Given the description of an element on the screen output the (x, y) to click on. 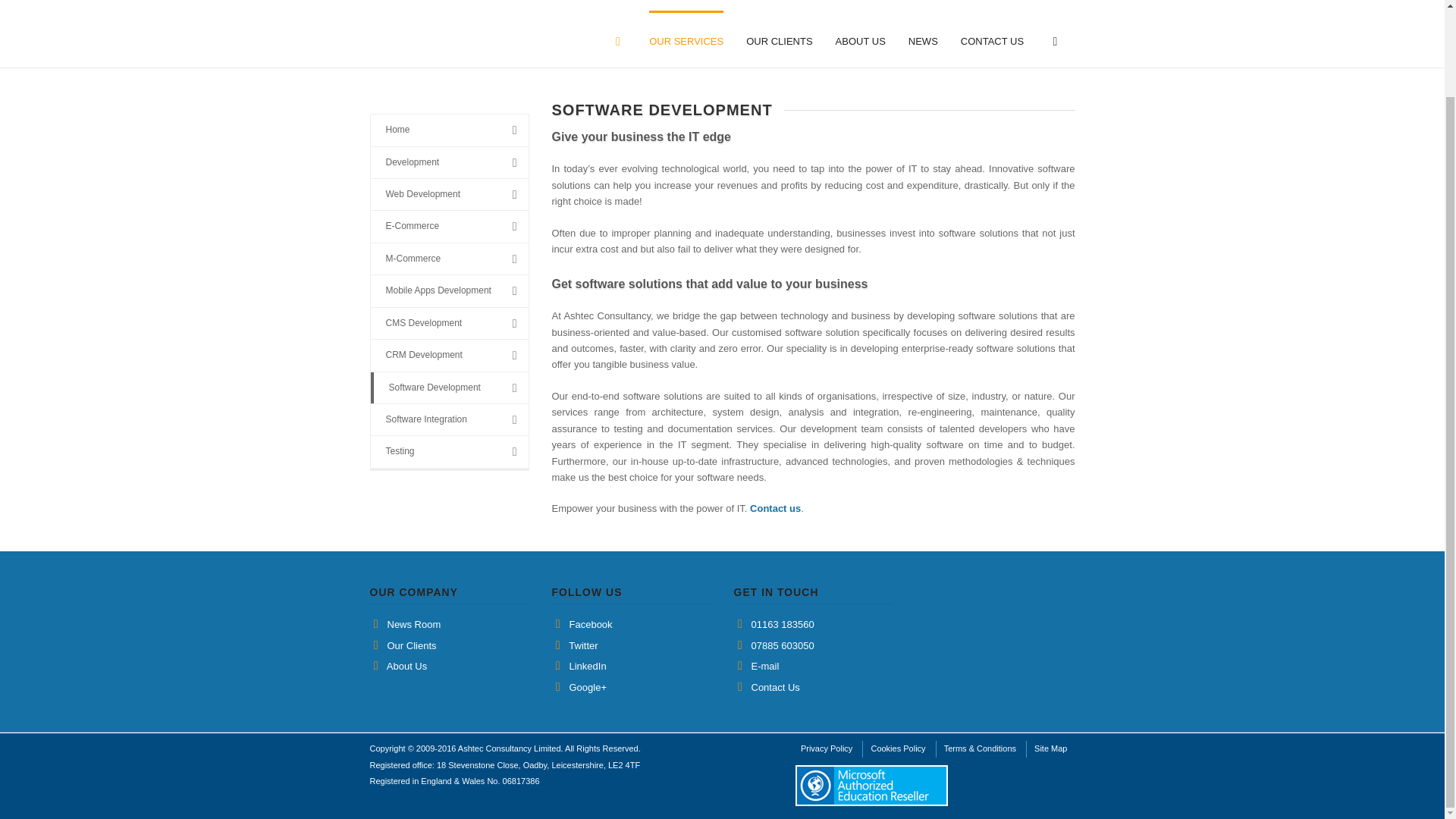
e-mail (764, 665)
Telephone (782, 624)
Facebook (590, 624)
Twitter (582, 645)
OUR SERVICES (686, 38)
Contact Us (774, 508)
News Room (414, 624)
contact Us (775, 686)
Our Clients (411, 645)
AboutUs (406, 665)
